Given the description of an element on the screen output the (x, y) to click on. 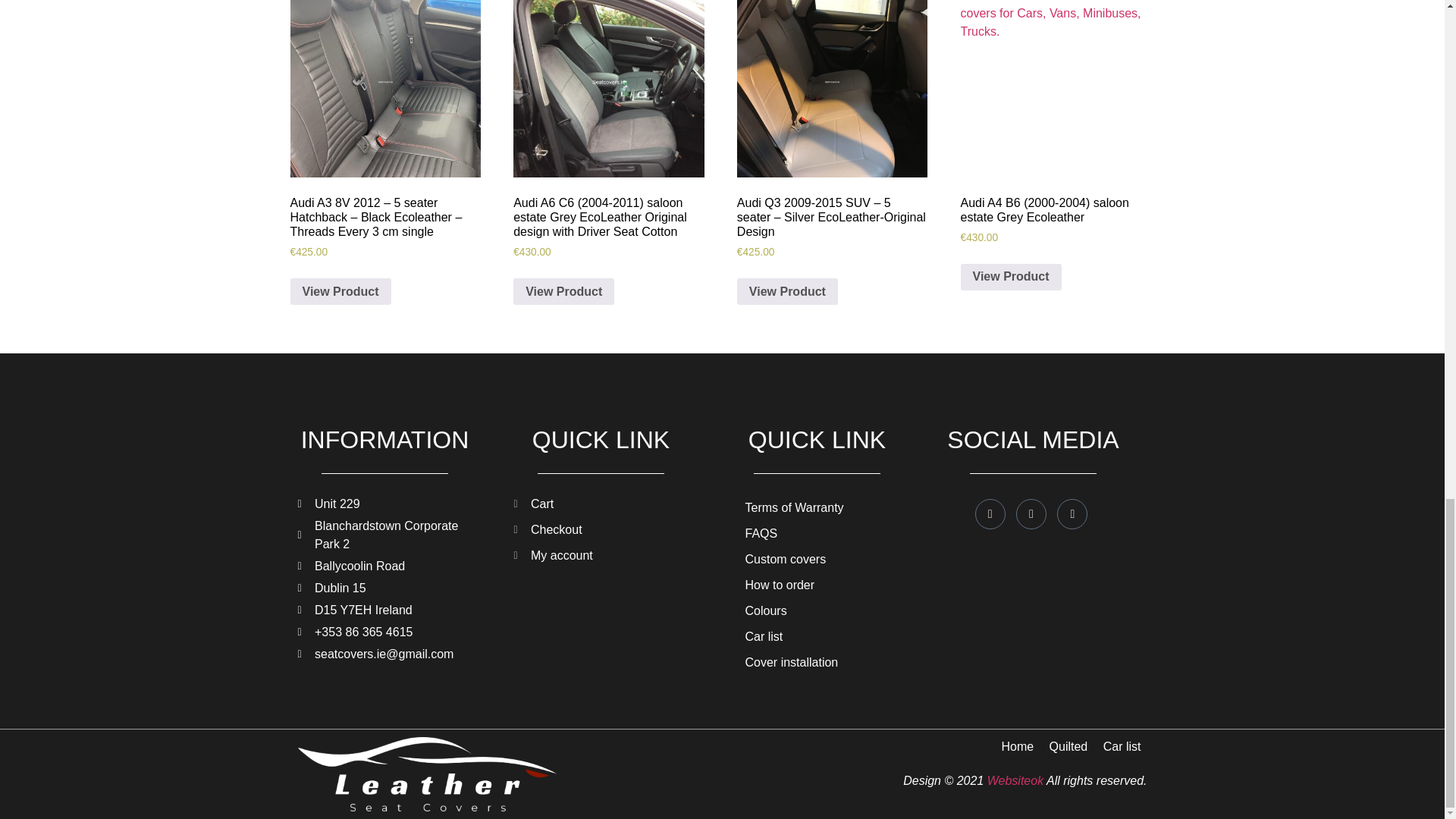
View Product (1010, 277)
Terms of Warranty (816, 507)
My account (600, 556)
View Product (339, 291)
Checkout (600, 529)
View Product (787, 291)
View Product (563, 291)
Cart (600, 504)
